Given the description of an element on the screen output the (x, y) to click on. 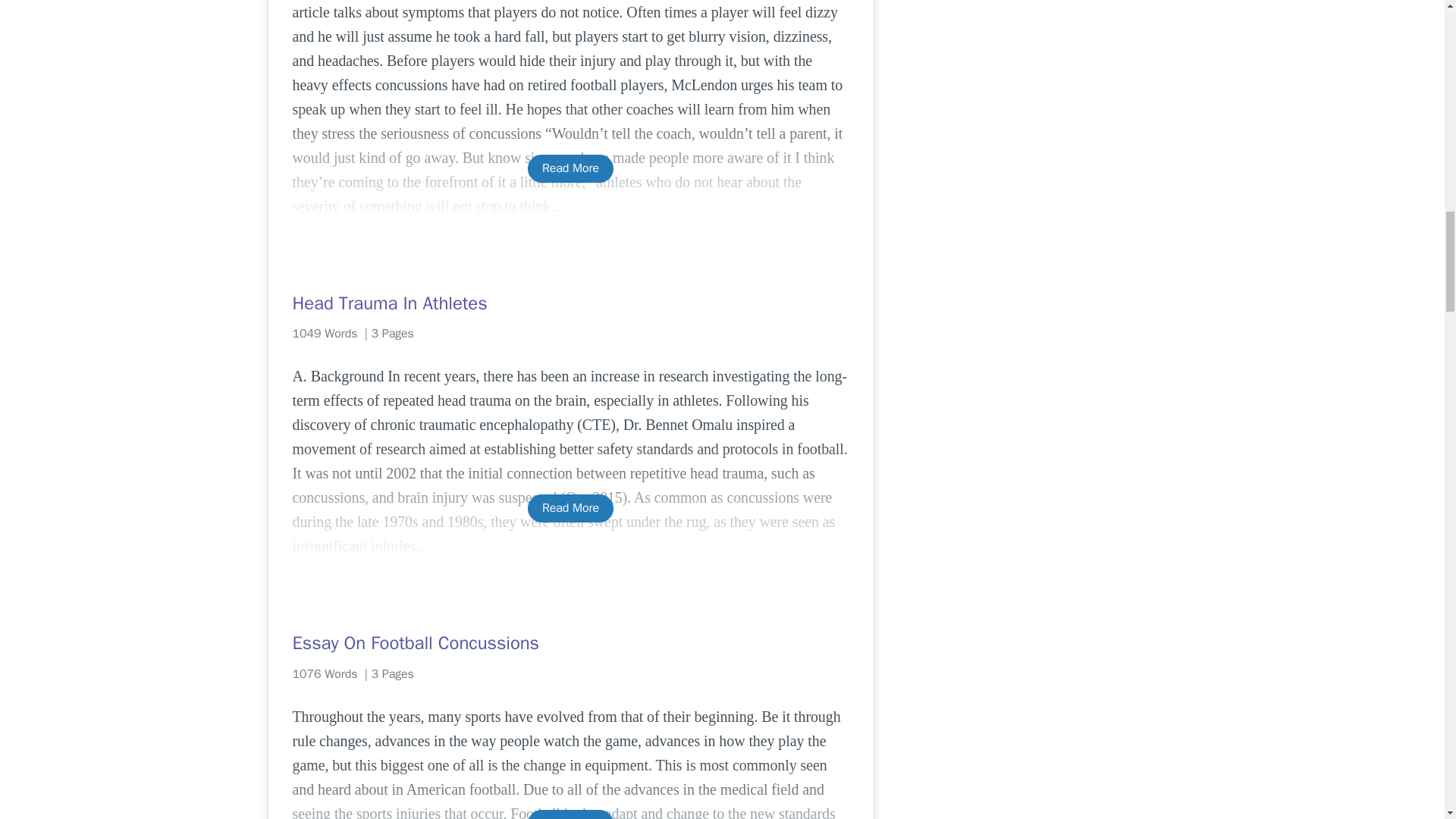
Read More (569, 168)
Essay On Football Concussions (570, 642)
Read More (569, 814)
Head Trauma In Athletes (570, 303)
Read More (569, 508)
